Given the description of an element on the screen output the (x, y) to click on. 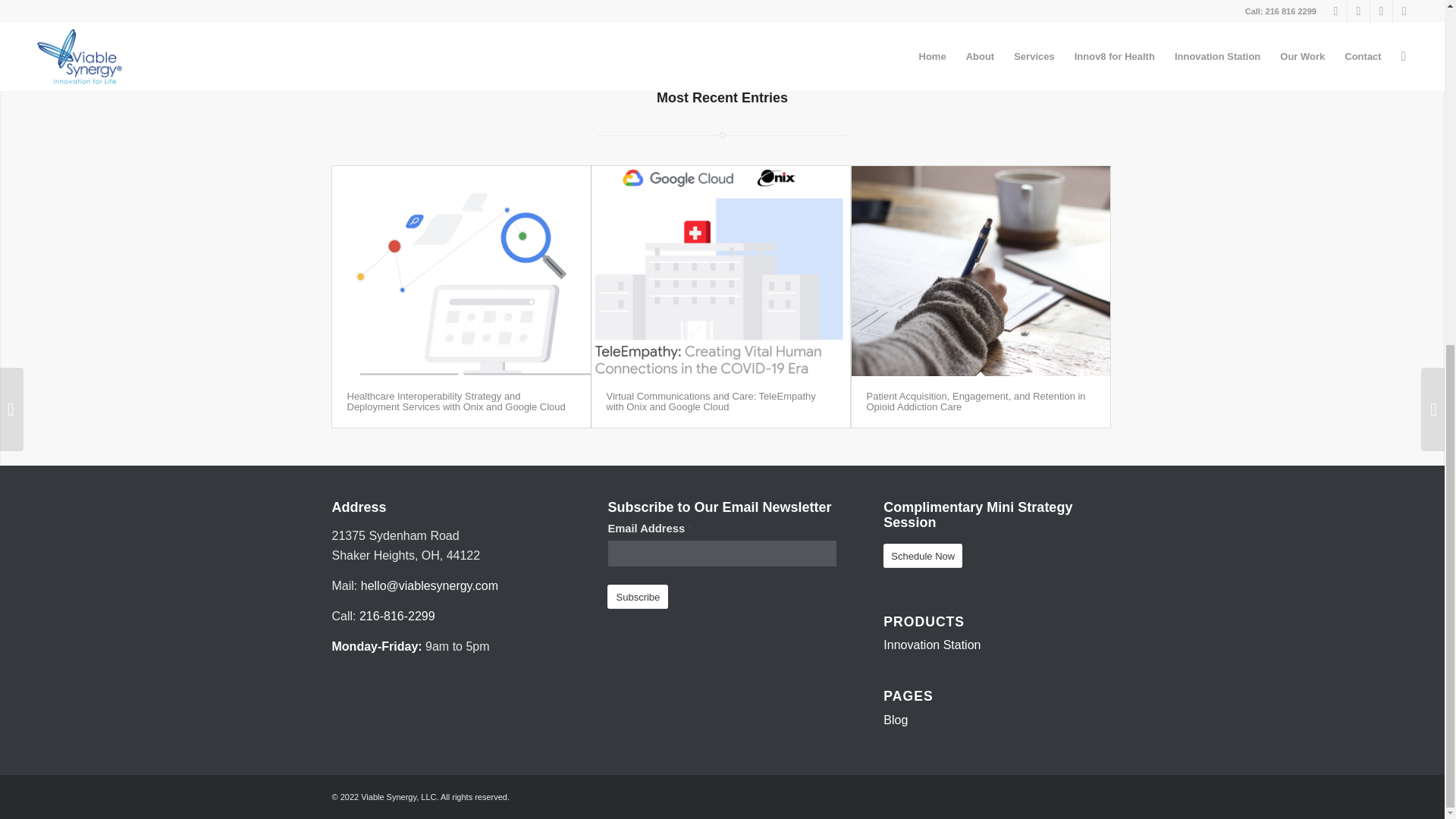
Blog (895, 719)
Schedule Now (922, 555)
Subscribe (637, 596)
Subscribe (637, 596)
216-816-2299 (397, 615)
Innovation Station (931, 644)
